Given the description of an element on the screen output the (x, y) to click on. 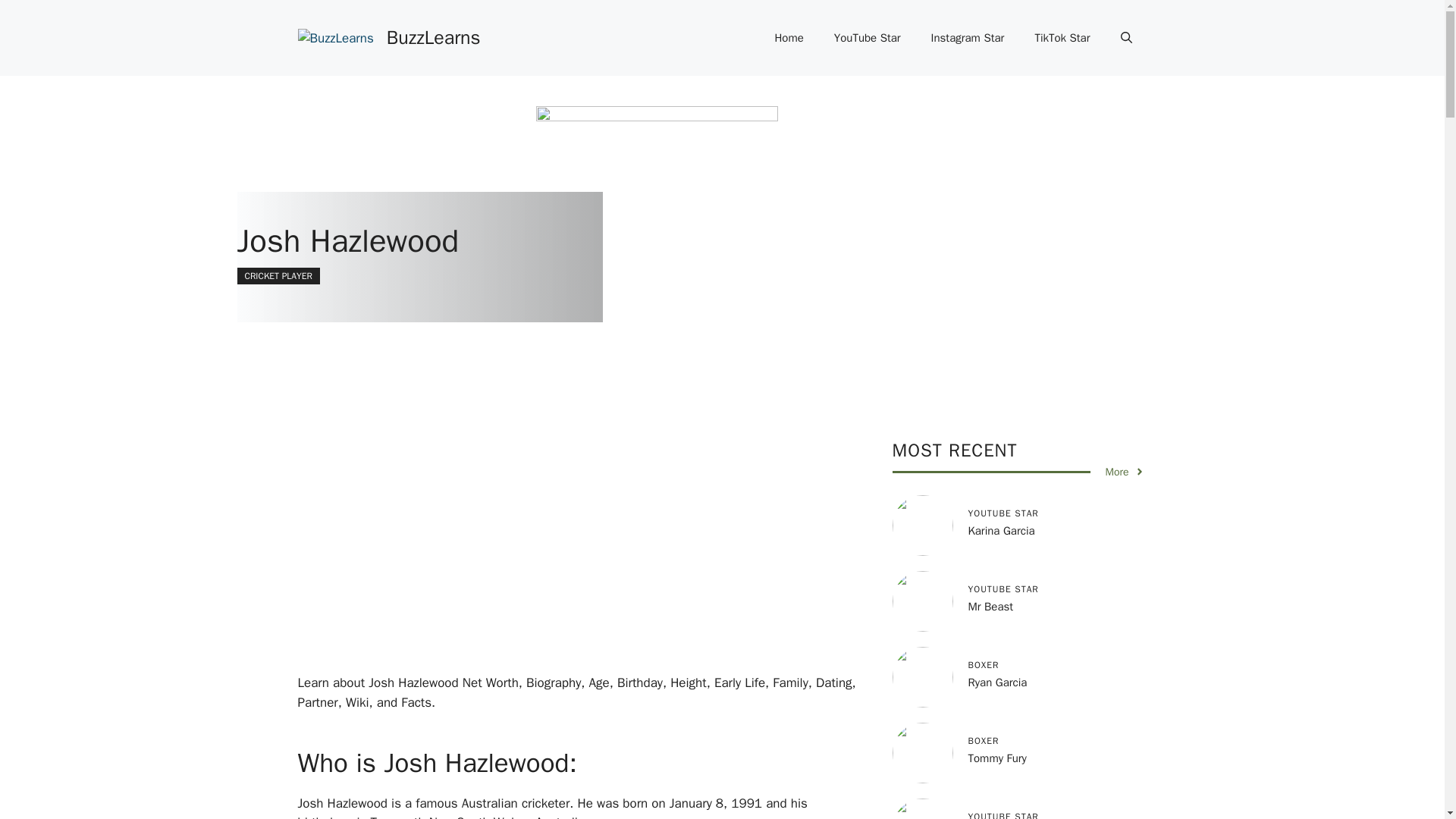
Home (788, 37)
Instagram Star (967, 37)
Tommy Fury (997, 757)
YouTube Star (866, 37)
Advertisement (600, 555)
BuzzLearns (433, 37)
CRICKET PLAYER (276, 275)
Mr Beast (990, 606)
Ryan Garcia (997, 682)
Karina Garcia (1000, 530)
More (1124, 471)
TikTok Star (1062, 37)
